Given the description of an element on the screen output the (x, y) to click on. 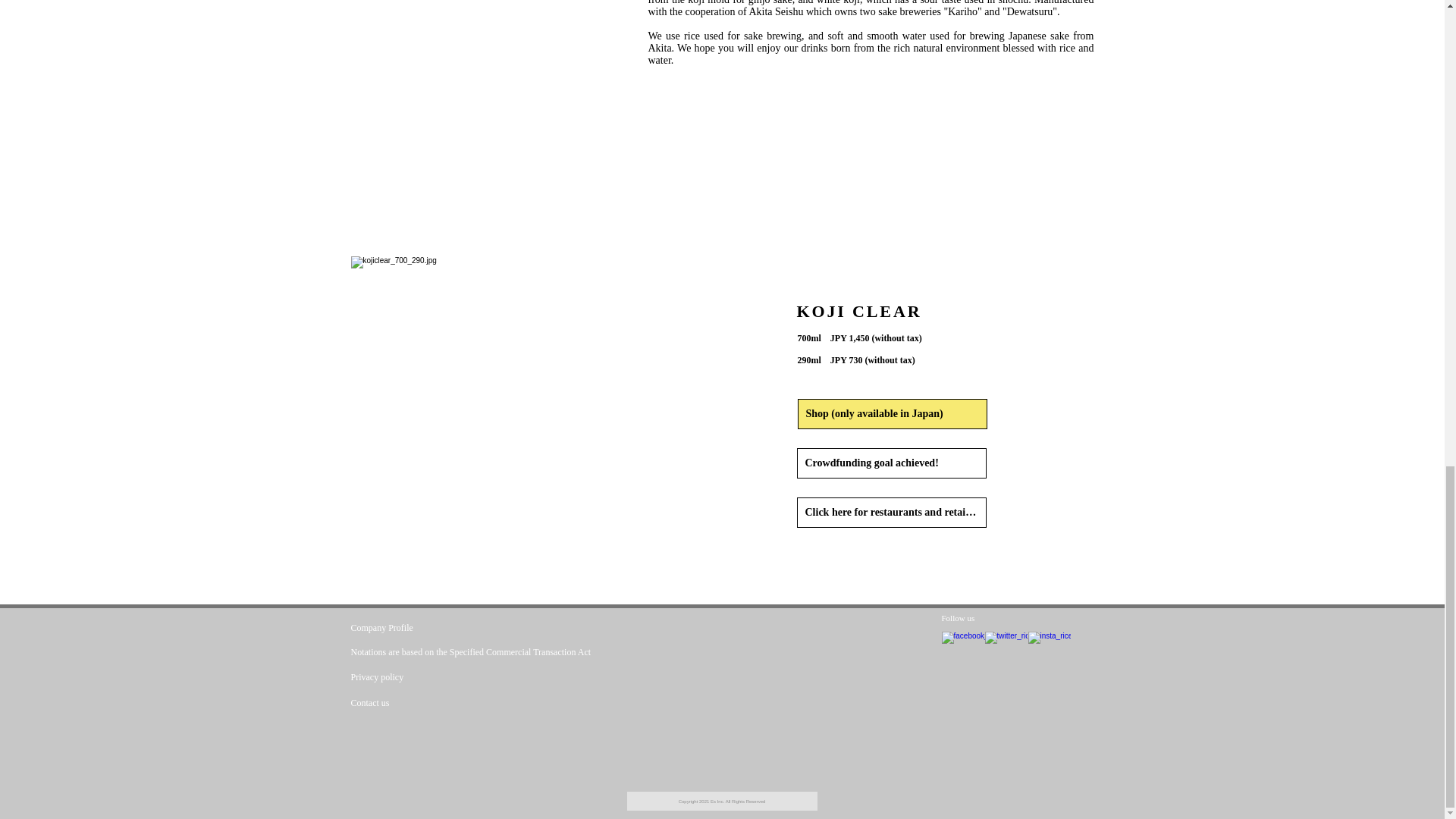
Company Profile (413, 628)
Crowdfunding goal achieved! (890, 462)
Privacy policy (413, 677)
Contact us (413, 702)
Copyright 2021 Es Inc. All Rights Reserved (721, 800)
